Given the description of an element on the screen output the (x, y) to click on. 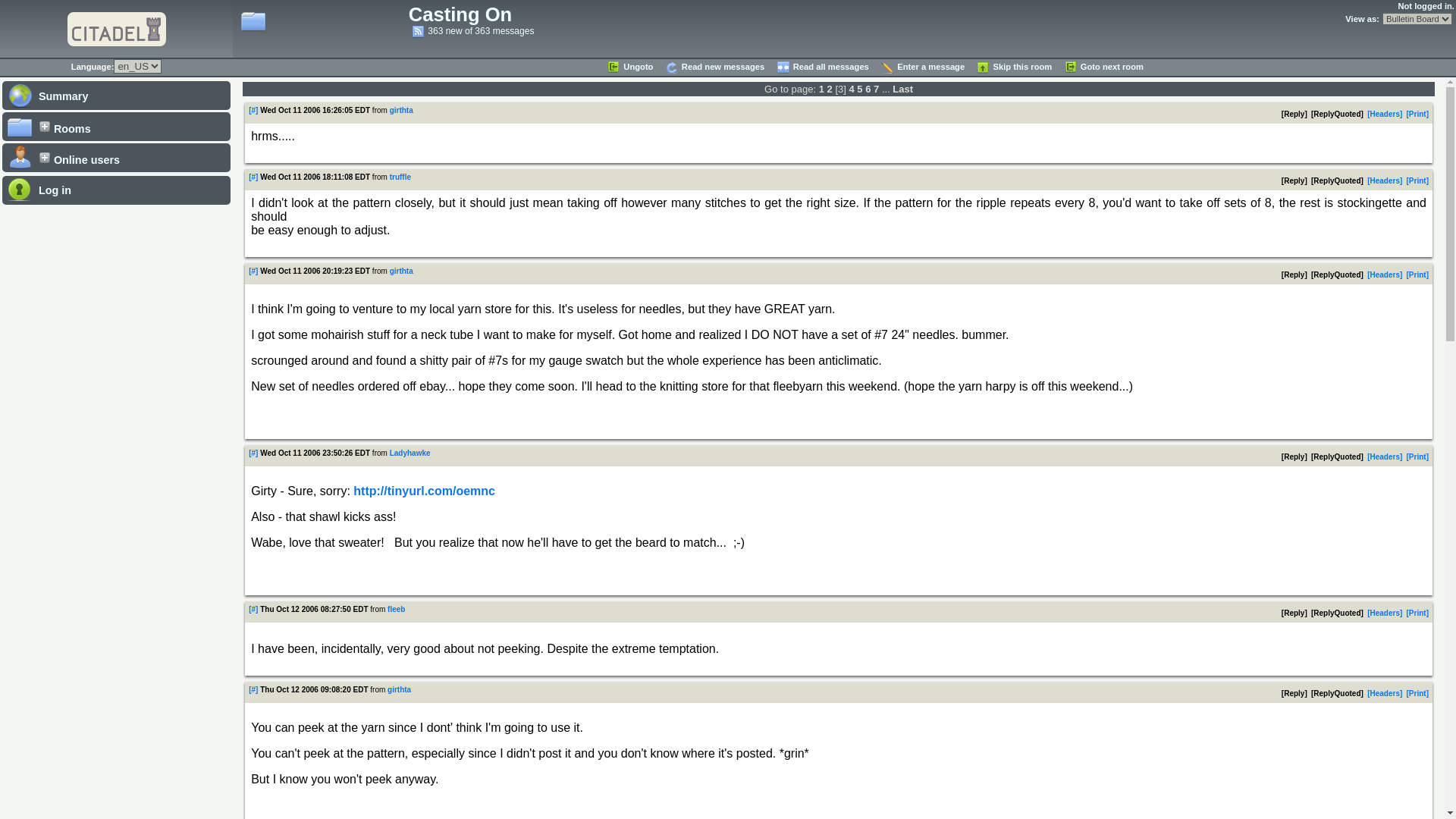
Log in (116, 189)
List all your accessible rooms (116, 126)
Casting On (460, 13)
Last (902, 89)
Online users (116, 157)
See who is online right now (116, 157)
girthta (401, 110)
Read new messages (714, 67)
Ungoto (630, 67)
Log in (116, 189)
Goto next room (1102, 67)
Rooms (116, 126)
Your summary page (116, 94)
Summary (116, 94)
